Given the description of an element on the screen output the (x, y) to click on. 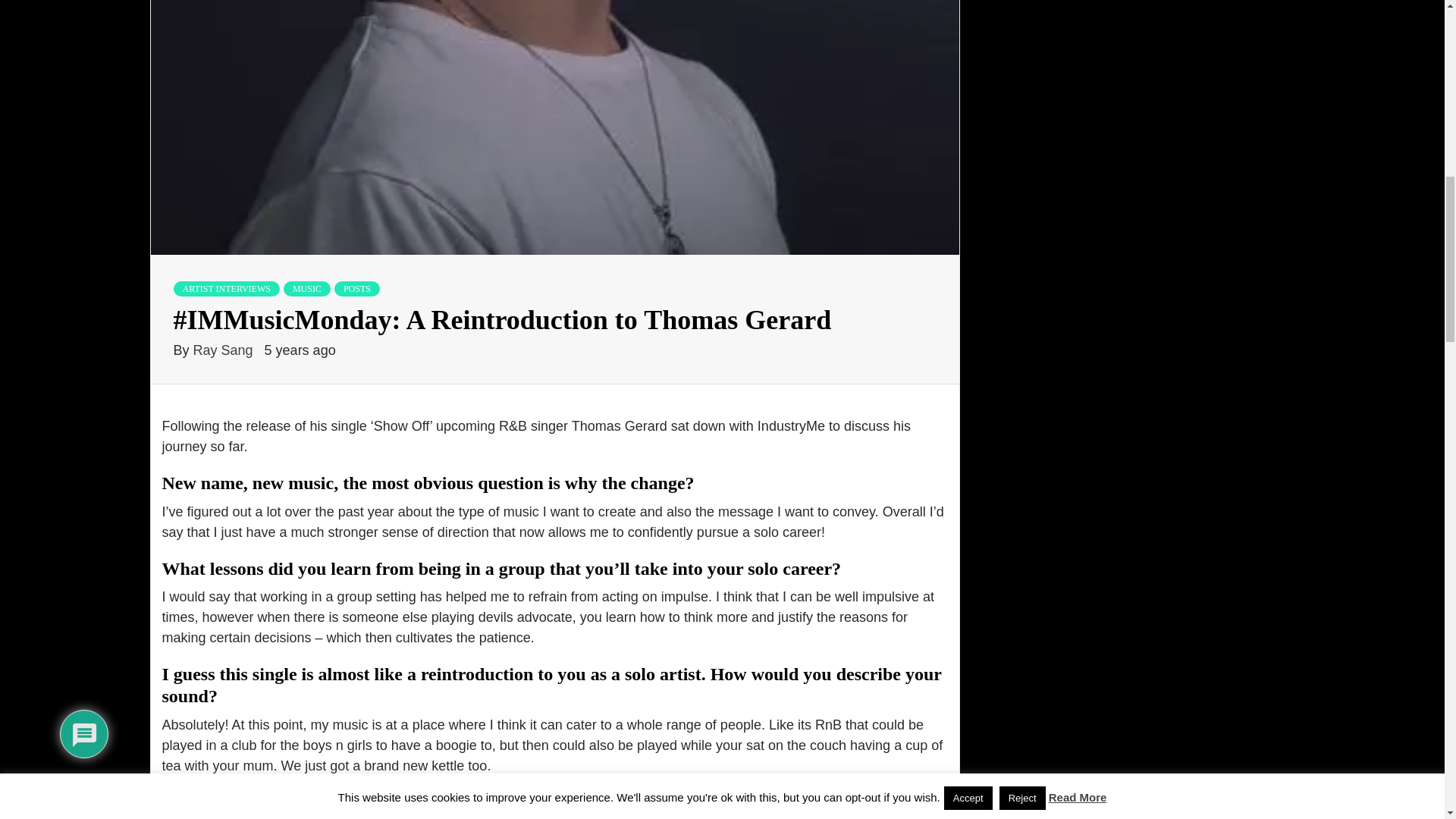
MUSIC (306, 288)
ARTIST INTERVIEWS (226, 288)
POSTS (357, 288)
Ray Sang (225, 350)
